Given the description of an element on the screen output the (x, y) to click on. 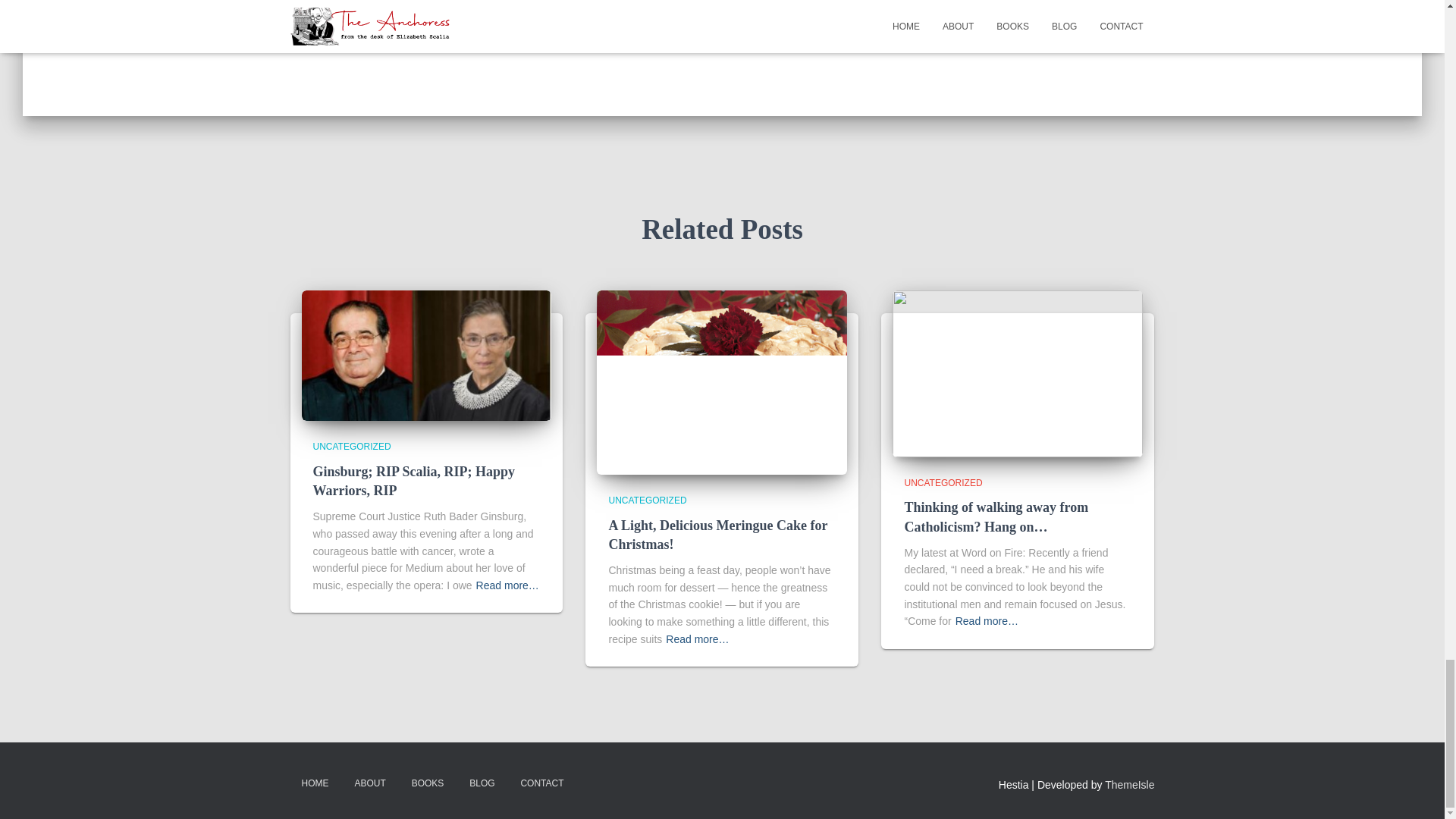
View all posts in Uncategorized (646, 500)
Ginsburg; RIP Scalia, RIP; Happy Warriors, RIP (414, 480)
View all posts in Uncategorized (351, 446)
UNCATEGORIZED (351, 446)
Ginsburg; RIP Scalia, RIP; Happy Warriors, RIP (414, 480)
UNCATEGORIZED (942, 482)
View all posts in Uncategorized (942, 482)
UNCATEGORIZED (646, 500)
Ginsburg; RIP Scalia, RIP; Happy Warriors, RIP (426, 354)
A Light, Delicious Meringue Cake for Christmas! (717, 534)
A Light, Delicious Meringue Cake for Christmas! (717, 534)
HOME (314, 783)
A Light, Delicious Meringue Cake for Christmas! (721, 381)
